Given the description of an element on the screen output the (x, y) to click on. 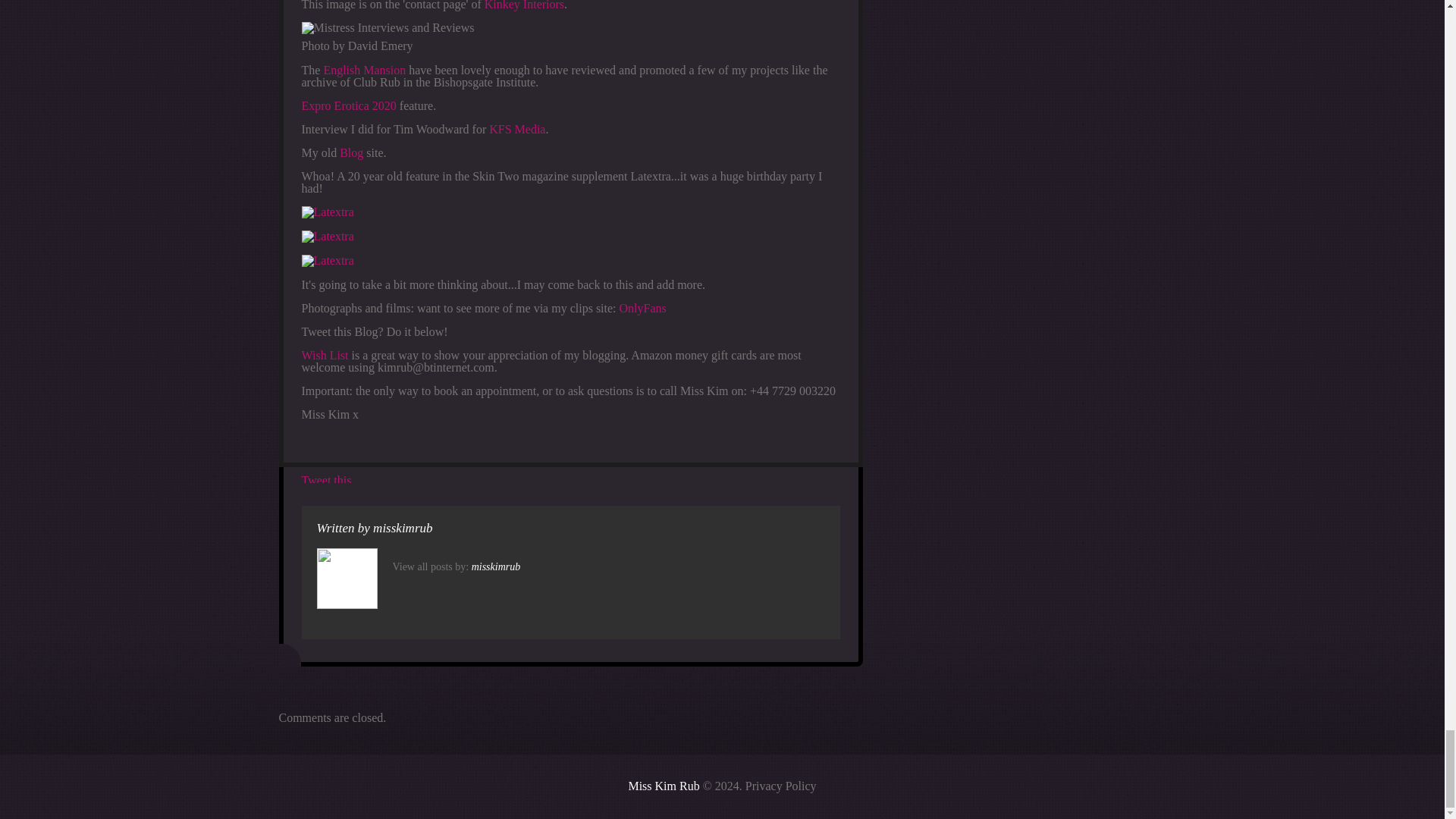
Posts by misskimrub (402, 527)
Some People Like To Rub Me For Luck! (662, 785)
Posts by misskimrub (496, 566)
Privacy Policy (780, 785)
